Given the description of an element on the screen output the (x, y) to click on. 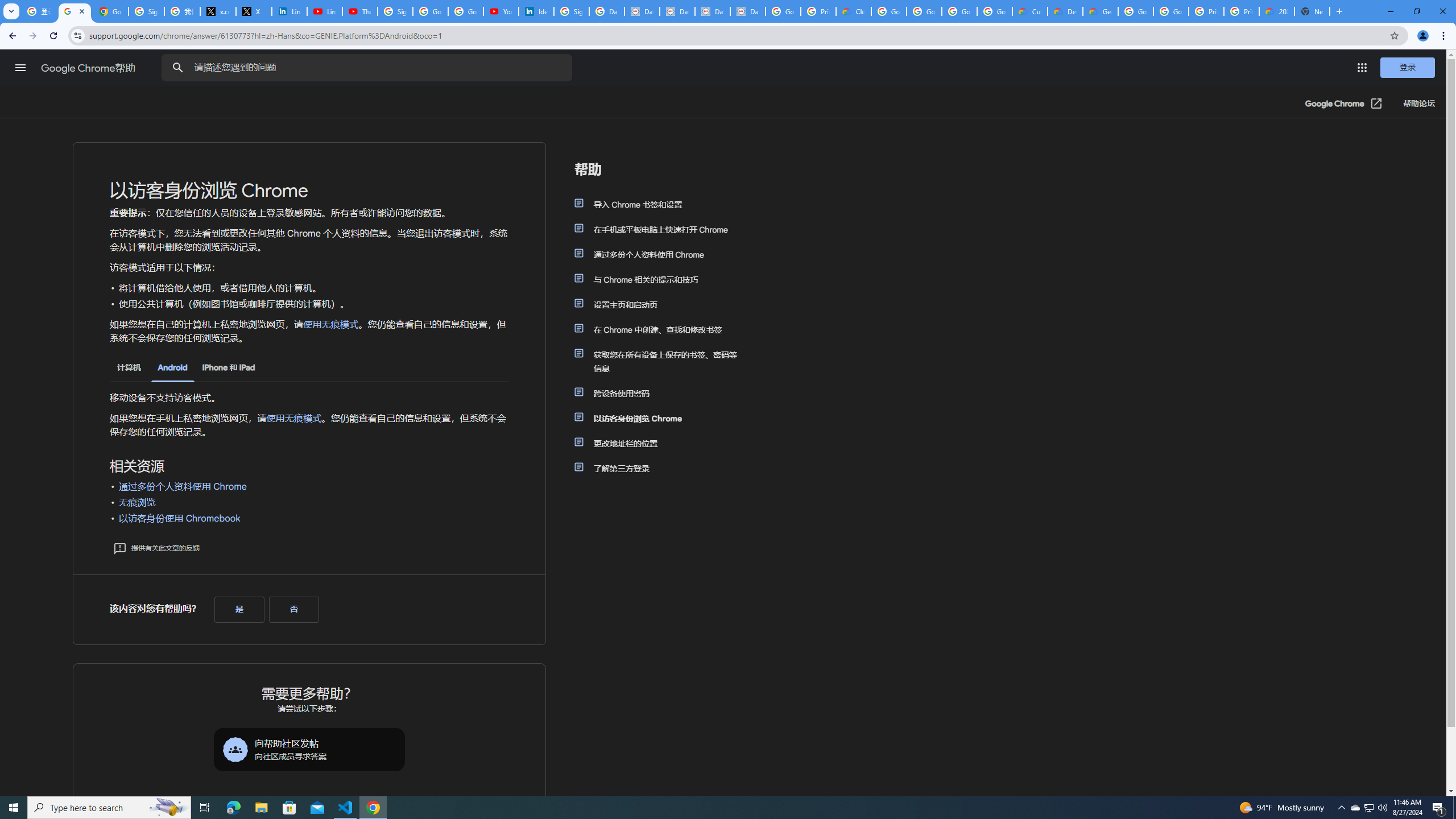
Forward (32, 35)
Search tabs (10, 11)
Address and search bar (735, 35)
Minimize (1390, 11)
Customer Care | Google Cloud (1029, 11)
Reload (52, 35)
Data Privacy Framework (677, 11)
Data Privacy Framework (641, 11)
Google Workspace - Specific Terms (994, 11)
